Given the description of an element on the screen output the (x, y) to click on. 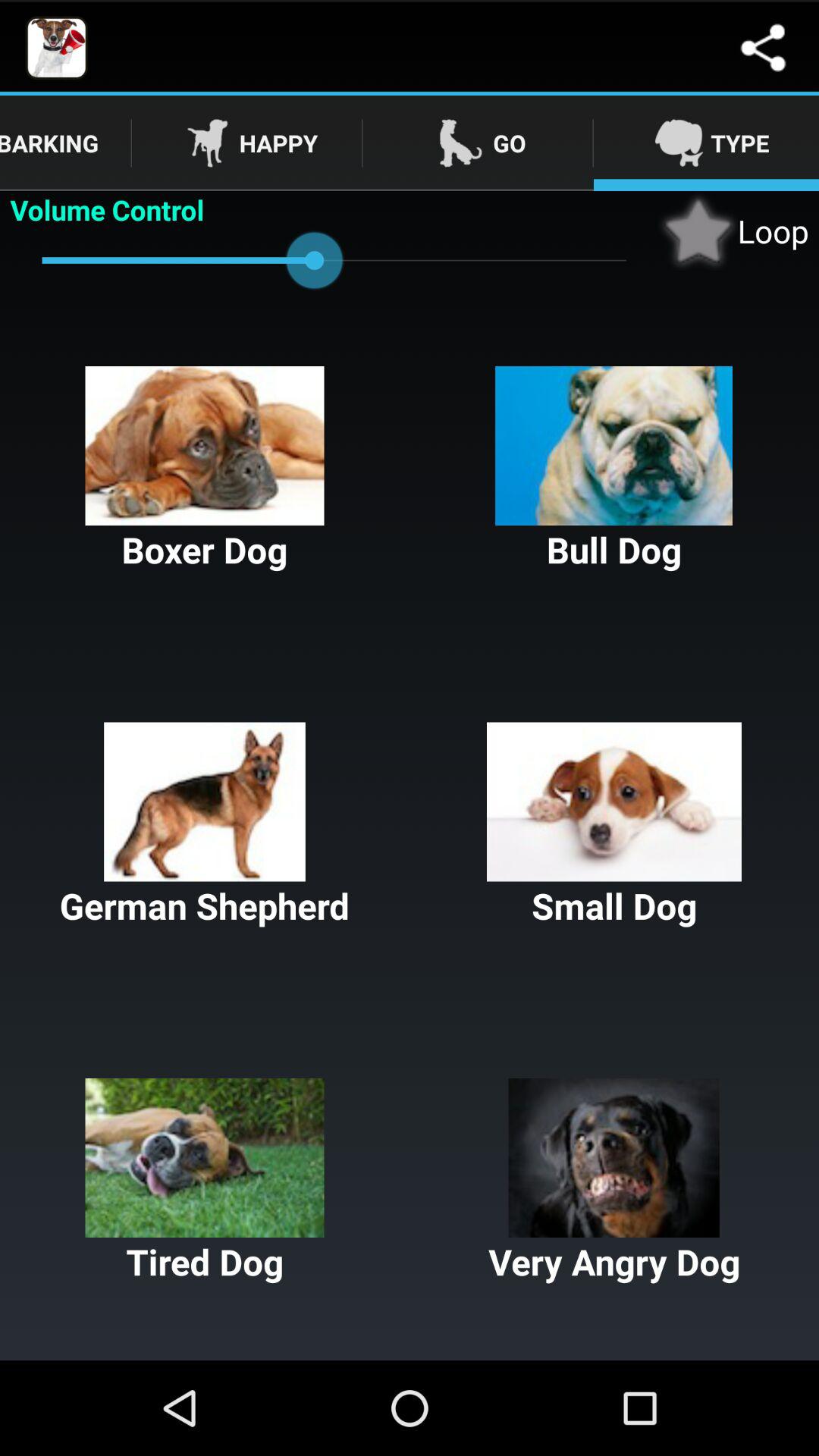
click the app next to volume control app (733, 230)
